Given the description of an element on the screen output the (x, y) to click on. 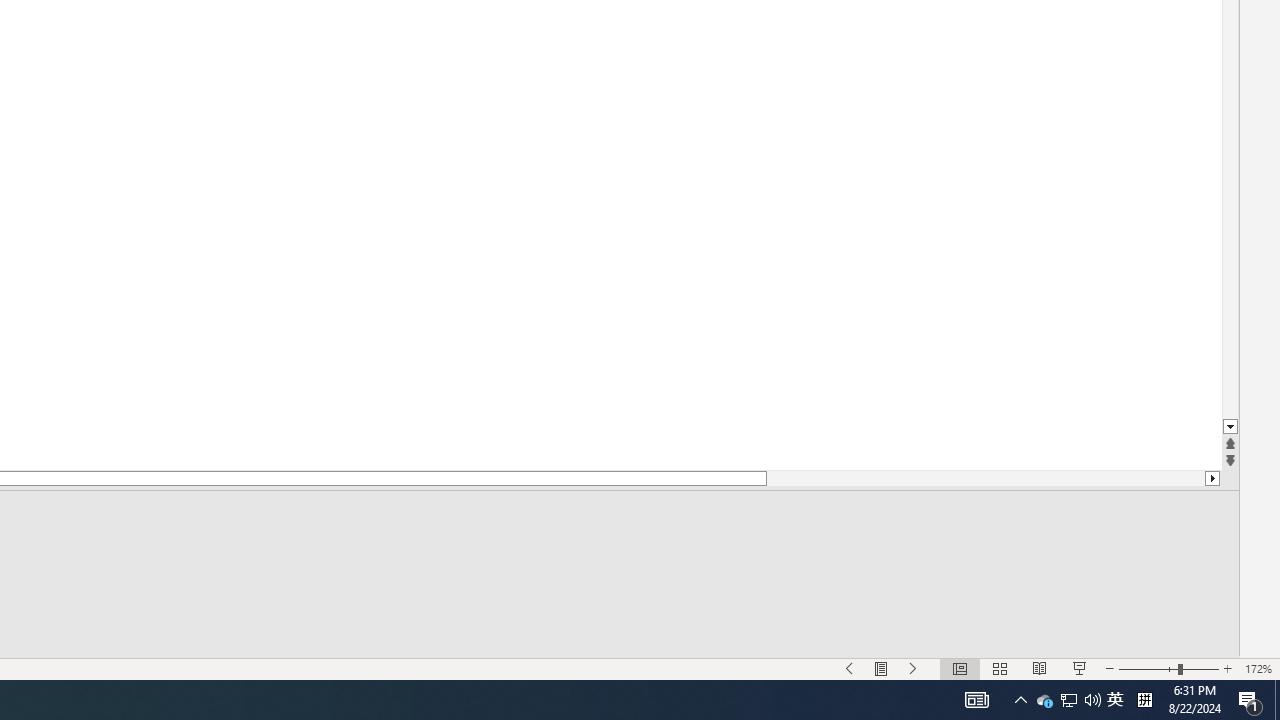
Zoom 172% (1258, 668)
Slide Show Previous On (850, 668)
Slide Show Next On (914, 668)
Menu On (882, 668)
